Given the description of an element on the screen output the (x, y) to click on. 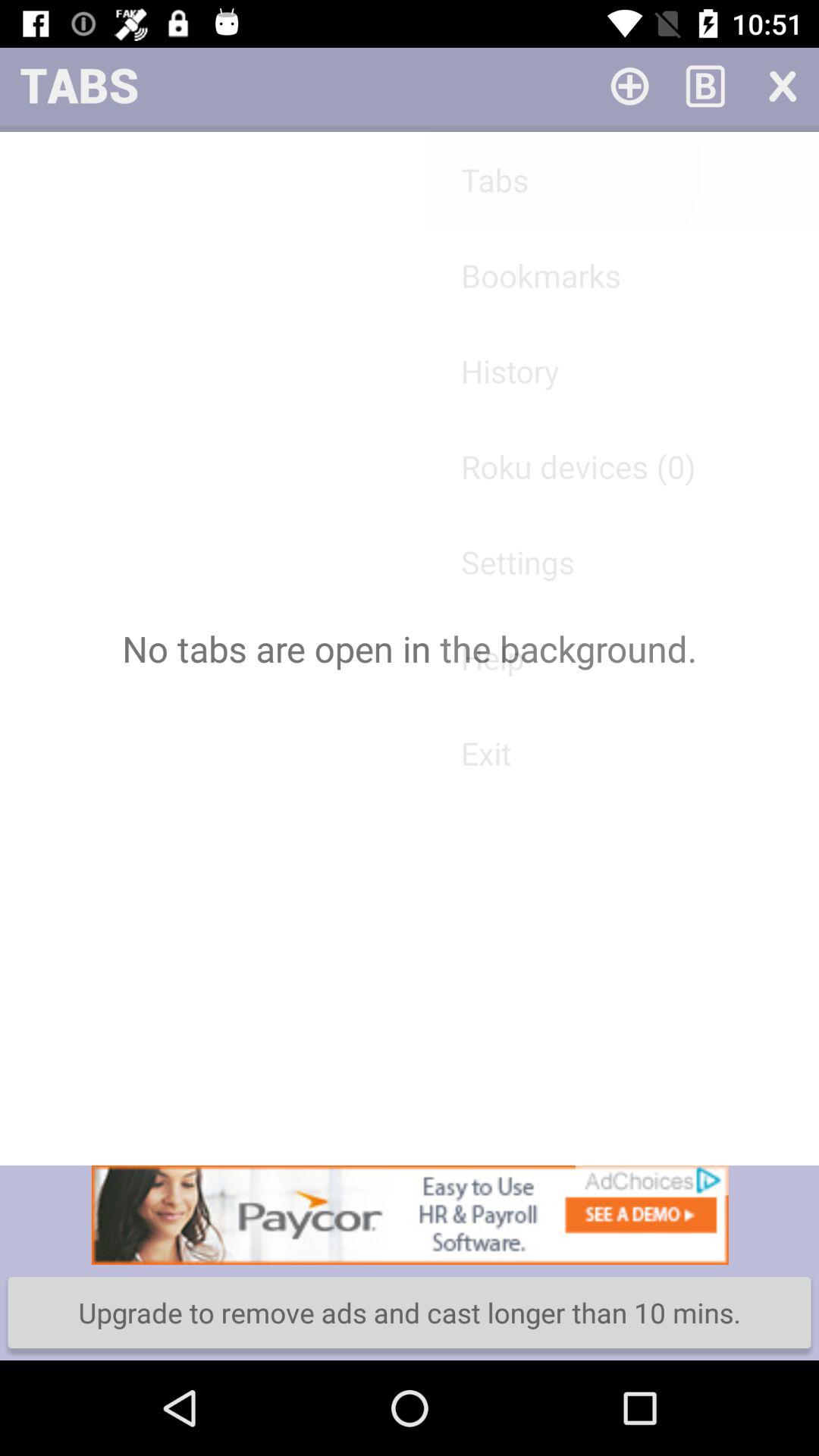
add click (409, 1214)
